Given the description of an element on the screen output the (x, y) to click on. 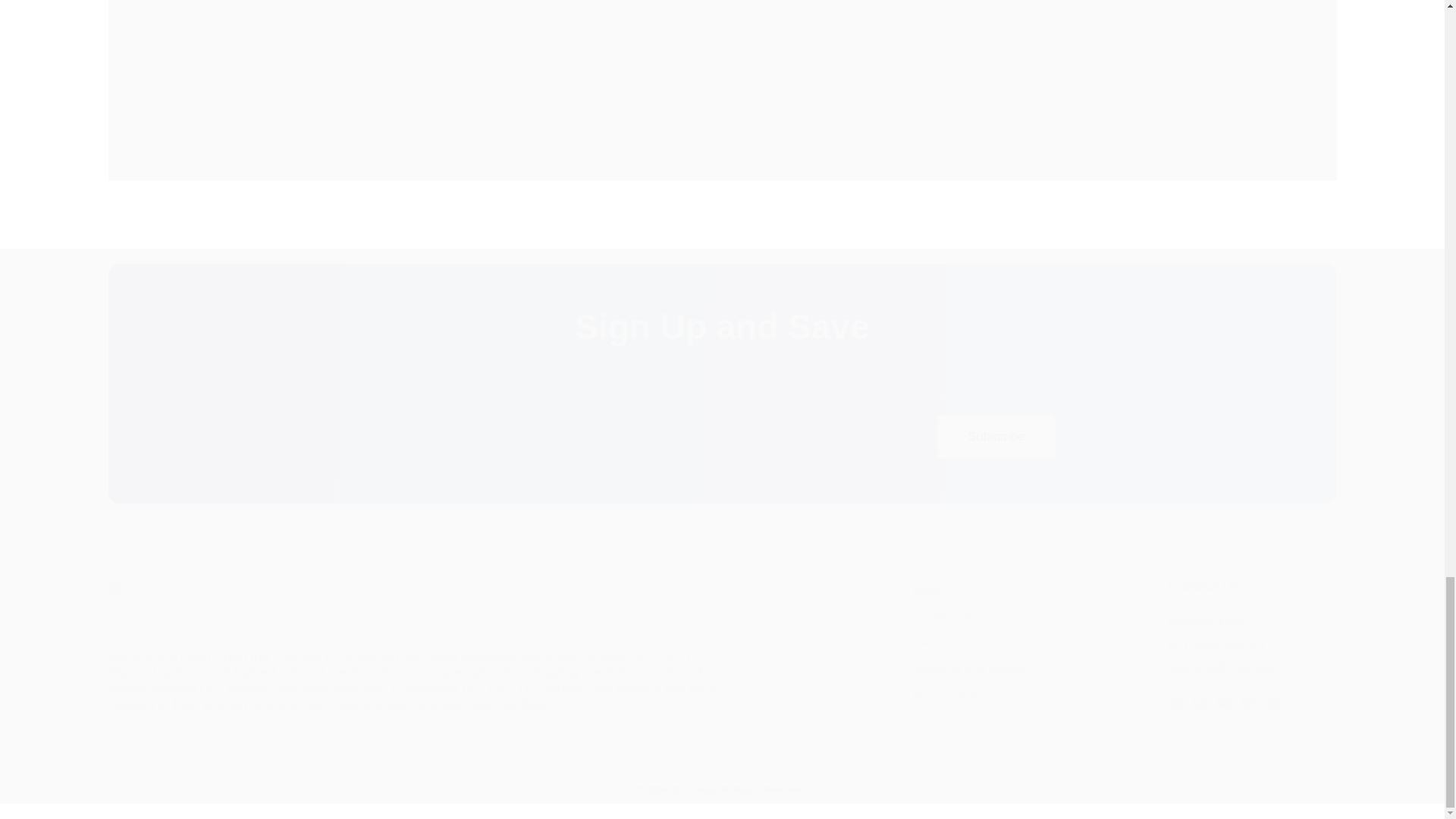
tel:866-642-3754 (1205, 621)
